Given the description of an element on the screen output the (x, y) to click on. 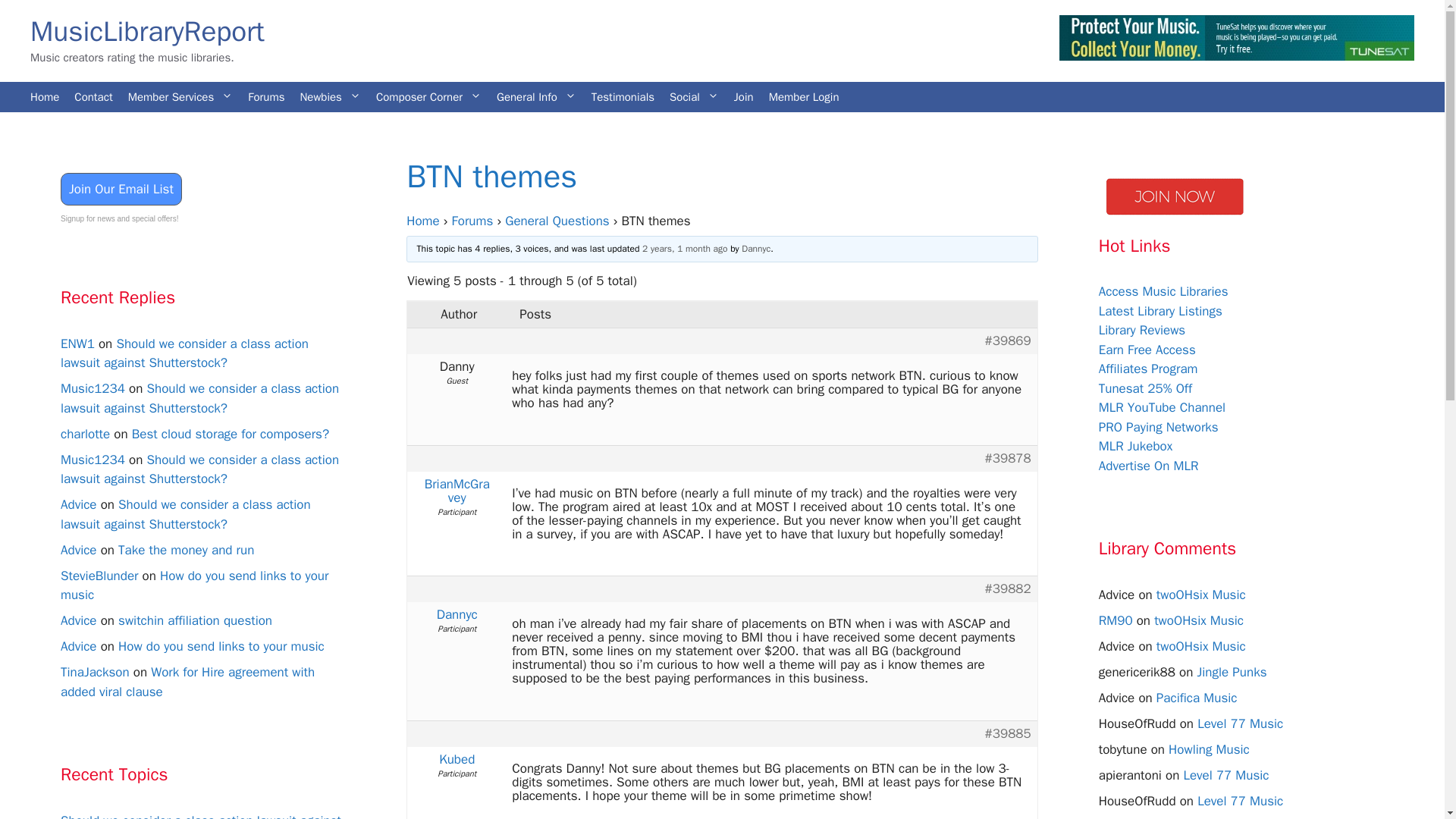
Home (44, 96)
View ENW1's profile (77, 342)
View Dannyc's profile (755, 248)
MusicLibraryReport (147, 31)
View BrianMcGravey's profile (456, 491)
Member Services (180, 96)
Reply To: BTN themes (684, 248)
View Dannyc's profile (456, 614)
Composer Corner (428, 96)
View Music1234's profile (93, 388)
